Given the description of an element on the screen output the (x, y) to click on. 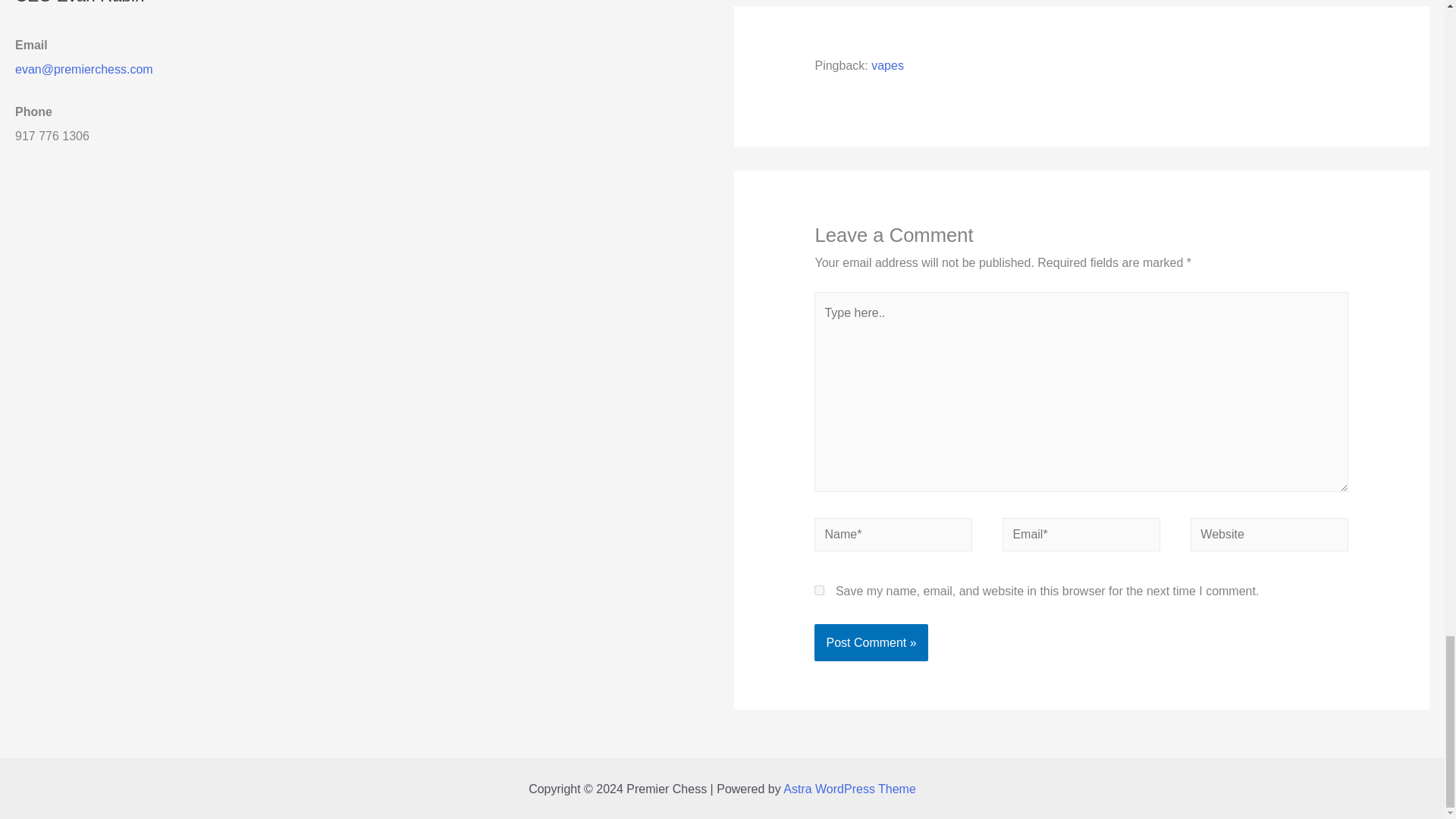
yes (818, 590)
